Given the description of an element on the screen output the (x, y) to click on. 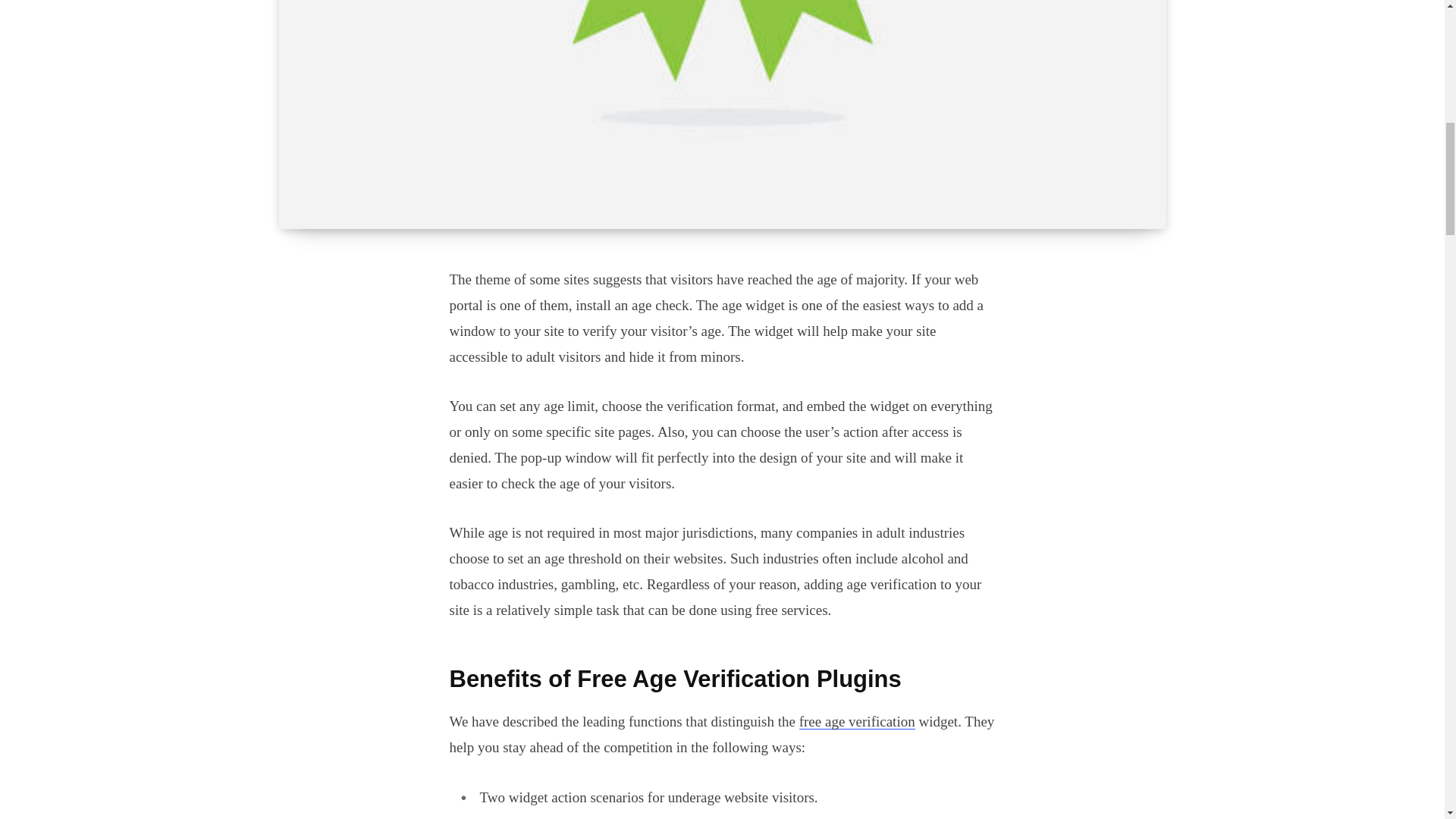
free age verification (857, 721)
